Given the description of an element on the screen output the (x, y) to click on. 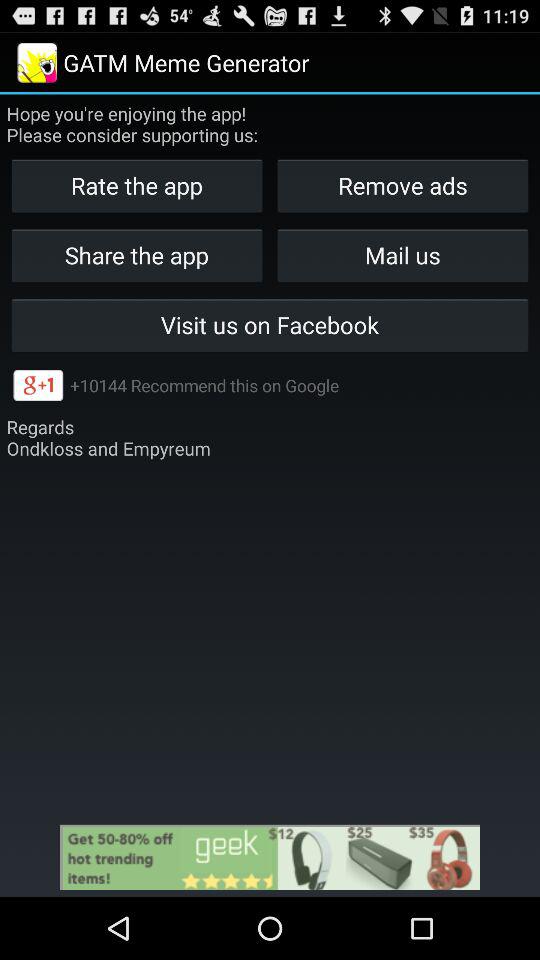
choose mail us (402, 254)
